Given the description of an element on the screen output the (x, y) to click on. 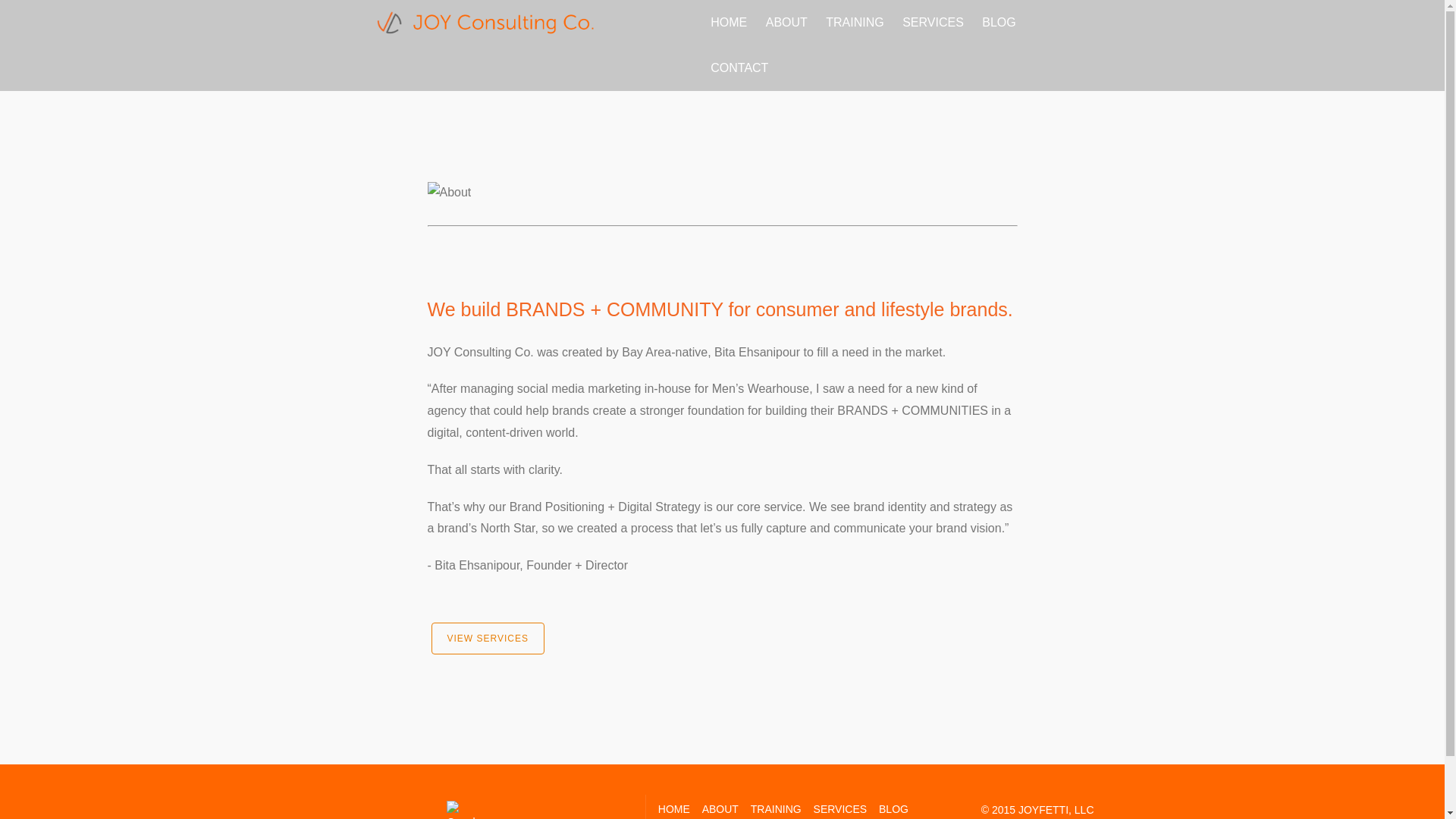
BLOG (893, 809)
HOME (674, 809)
HOME (728, 22)
VIEW SERVICES (486, 638)
Follow Us on Google Plus (463, 809)
ABOUT (786, 22)
SERVICES (840, 809)
TRAINING (854, 22)
ABOUT (719, 809)
